Given the description of an element on the screen output the (x, y) to click on. 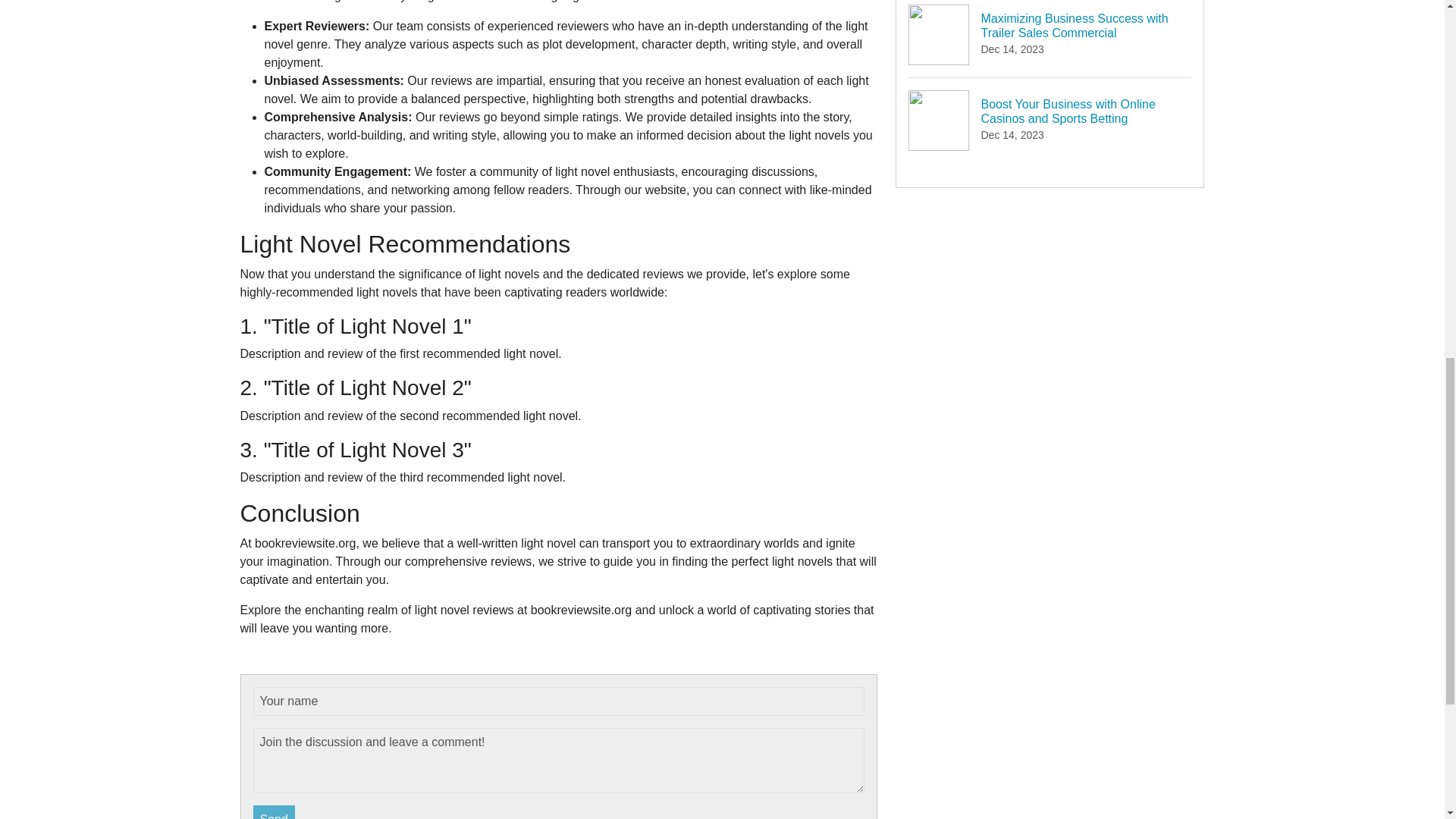
Send (274, 812)
Send (274, 812)
